Given the description of an element on the screen output the (x, y) to click on. 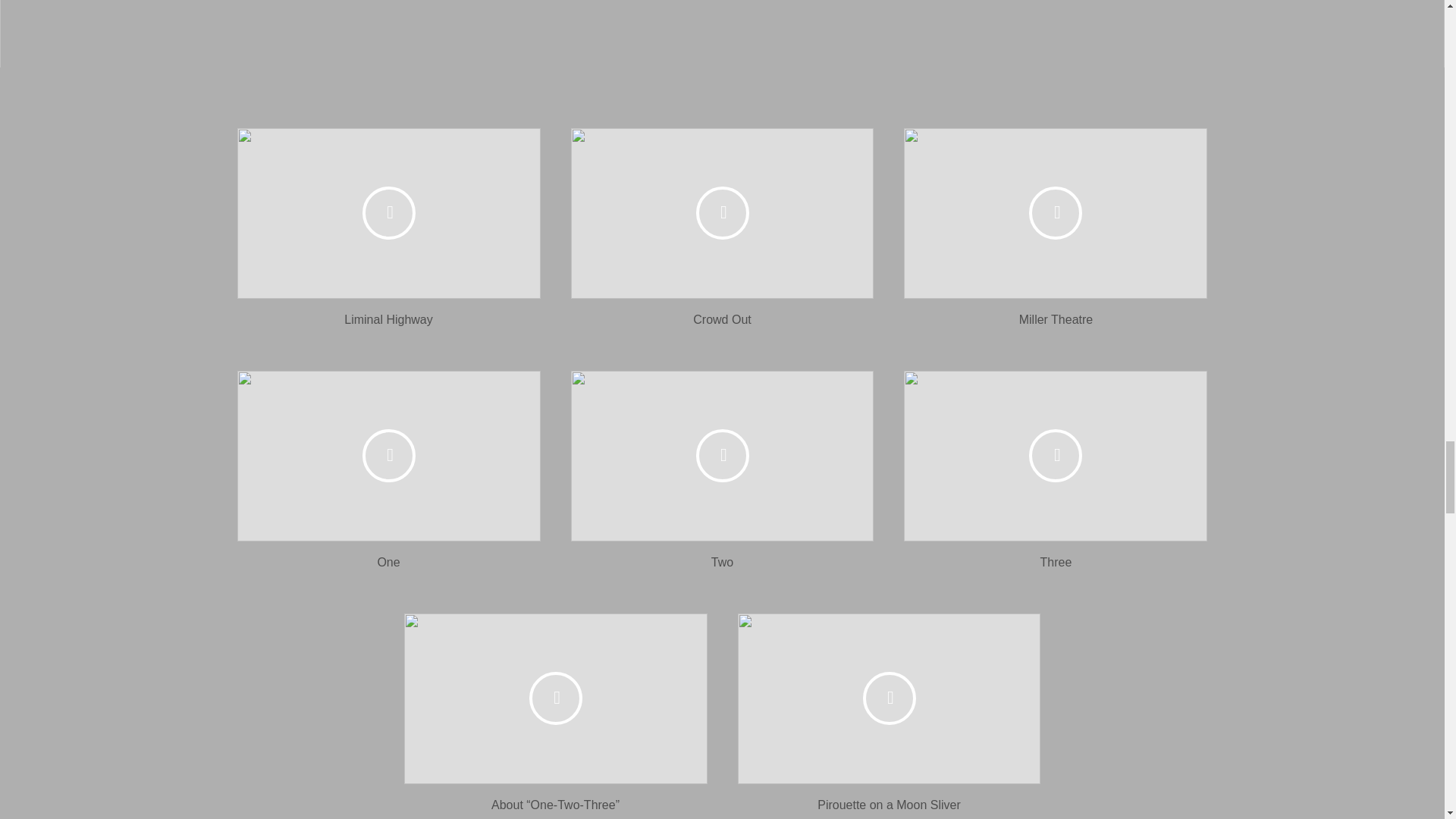
Liminal Highway (387, 318)
One (387, 562)
Crowd Out (722, 318)
Three (1056, 562)
Pirouette on a Moon Sliver (888, 804)
Two (722, 562)
Miller Theatre (1056, 318)
